Given the description of an element on the screen output the (x, y) to click on. 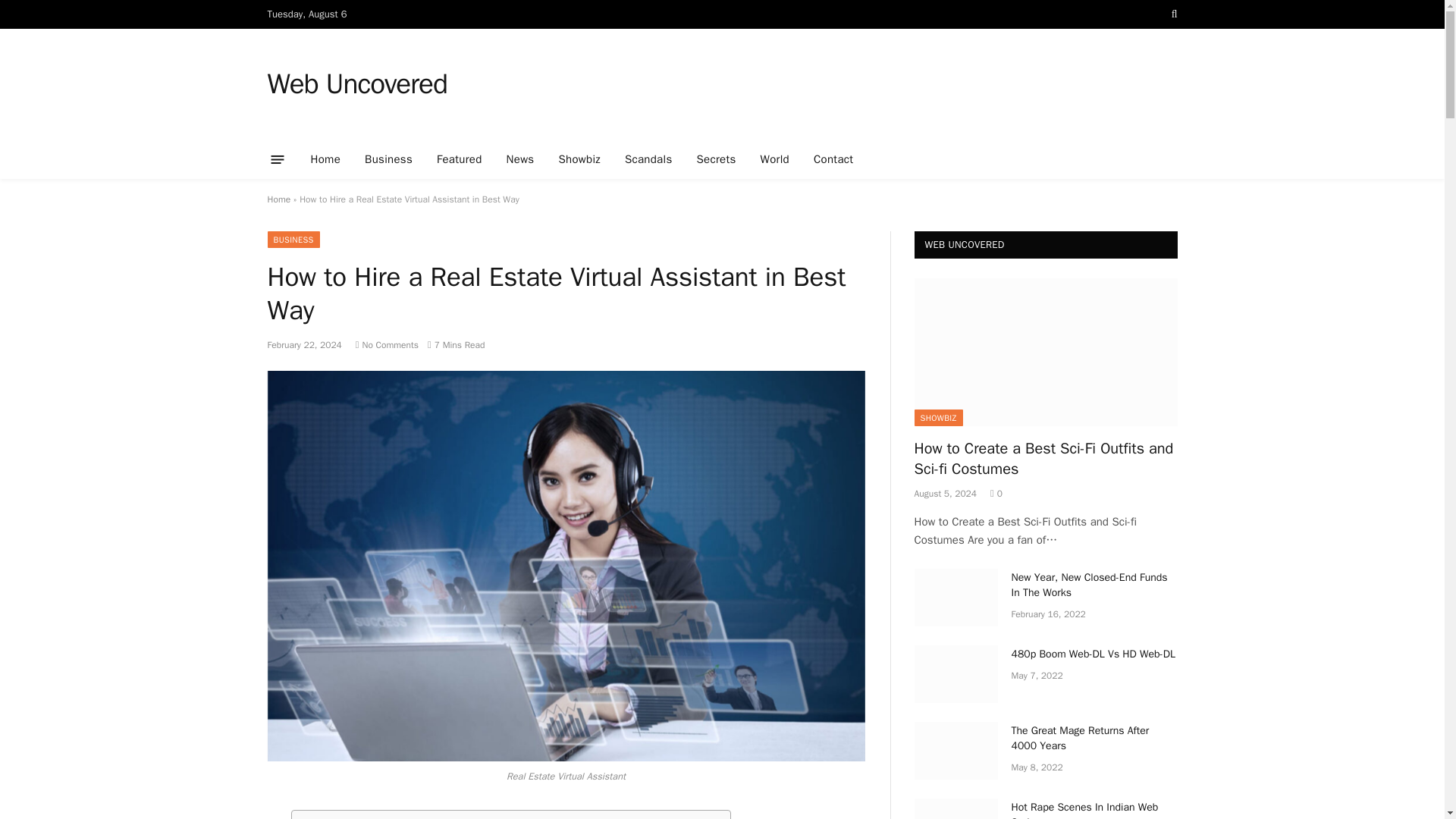
Showbiz (578, 159)
Web Uncovered (356, 84)
News (521, 159)
Web Uncovered (356, 84)
No Comments (387, 345)
Featured (460, 159)
Secrets (716, 159)
Business (388, 159)
Home (277, 199)
BUSINESS (292, 239)
